Given the description of an element on the screen output the (x, y) to click on. 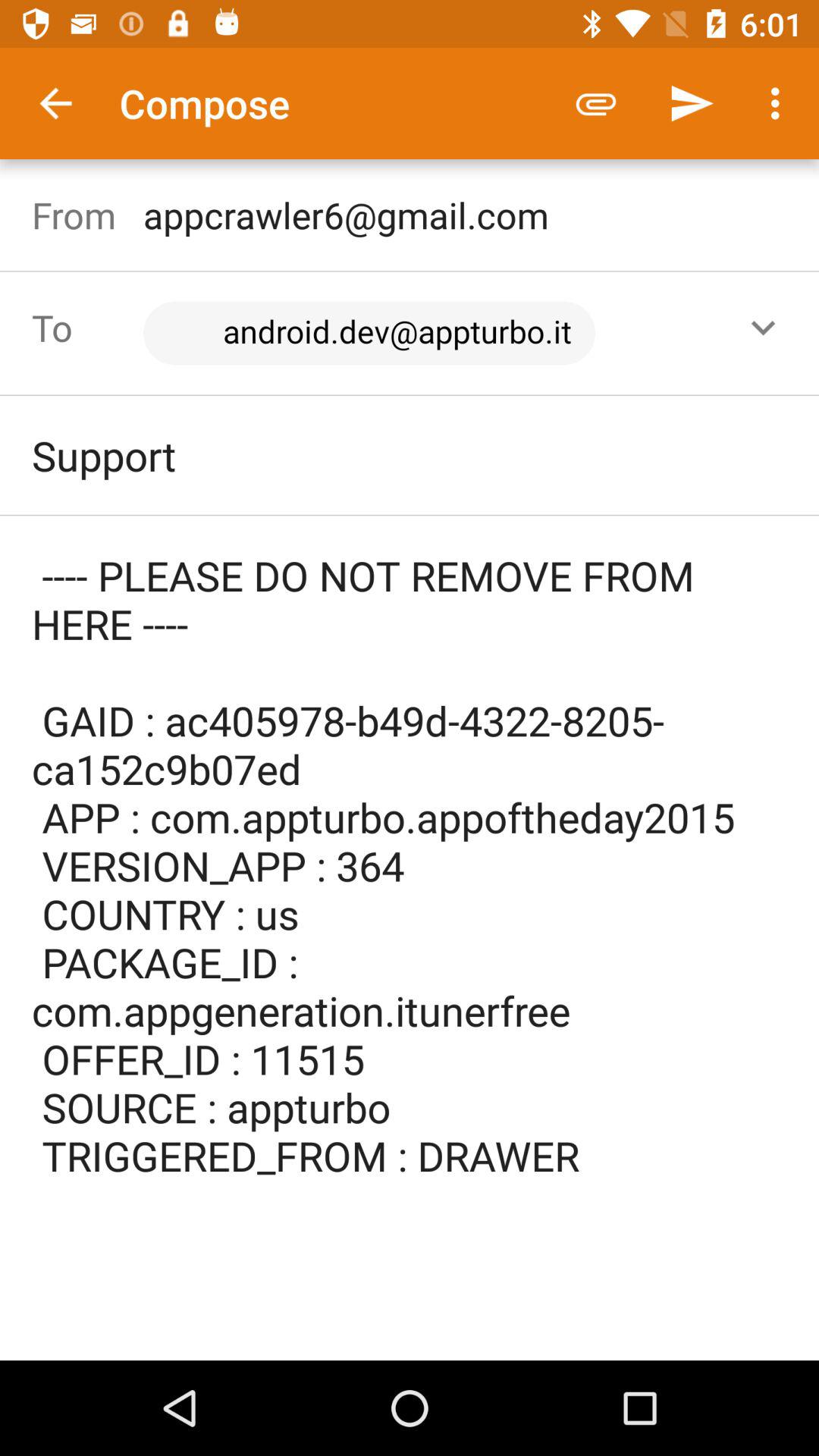
turn on item above appcrawler6@gmail.com (779, 103)
